Given the description of an element on the screen output the (x, y) to click on. 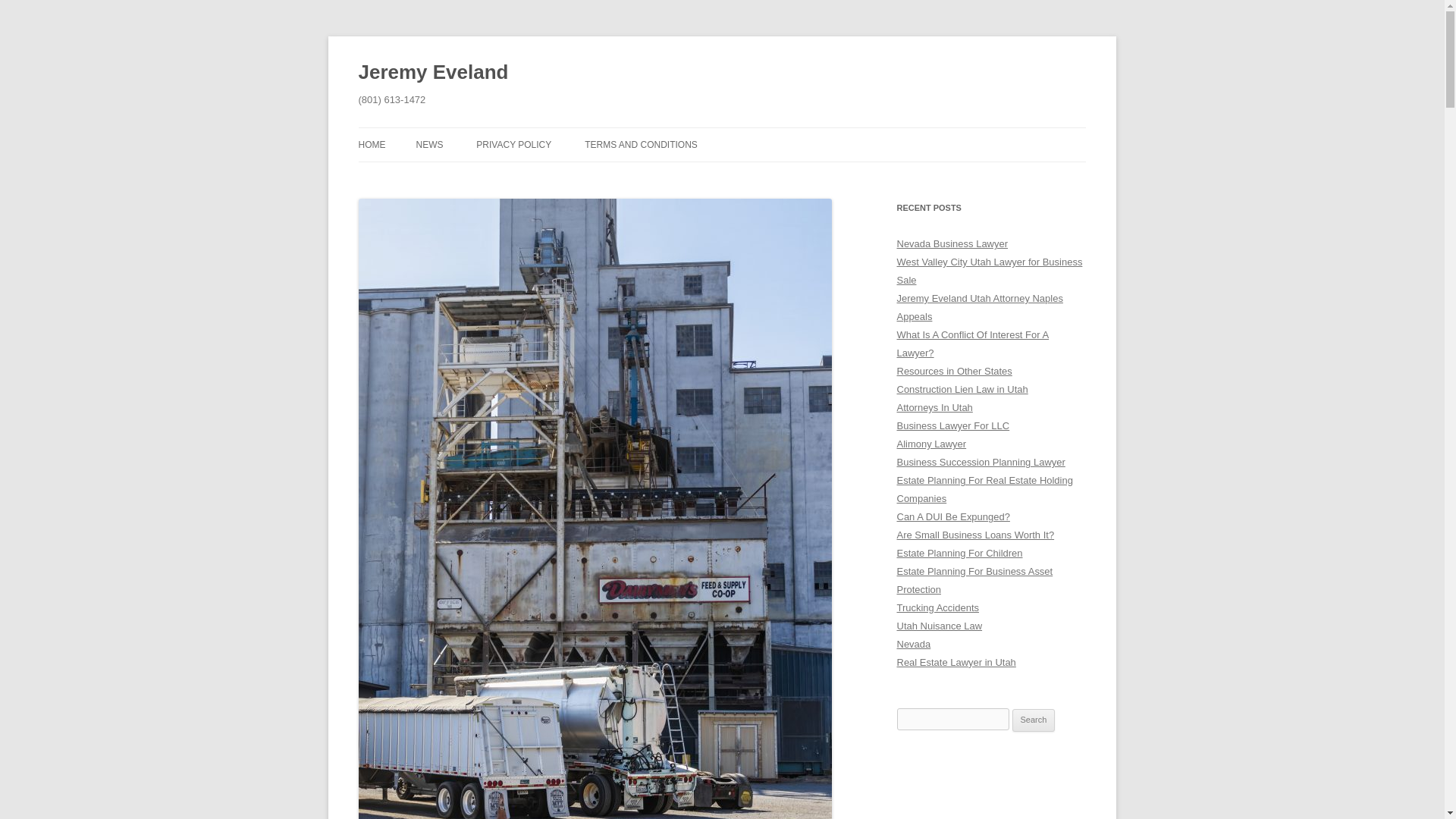
Search (1033, 720)
Jeremy Eveland (433, 72)
Alimony Lawyer (931, 443)
Attorneys In Utah (934, 407)
Nevada Business Lawyer (951, 243)
Trucking Accidents (937, 607)
Estate Planning For Business Asset Protection (974, 580)
PRIVACY POLICY (513, 144)
Resources in Other States (953, 370)
Appeals (913, 316)
